Given the description of an element on the screen output the (x, y) to click on. 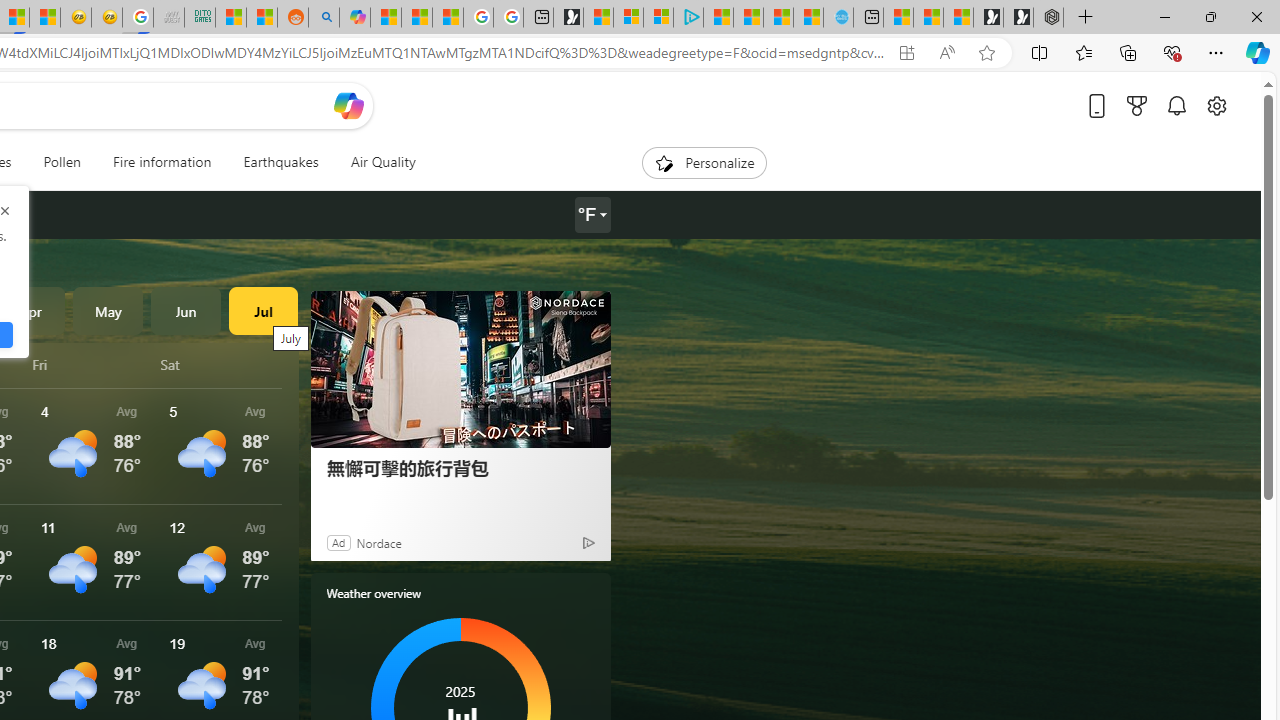
Jul (263, 310)
Nordace (378, 542)
Ad (338, 542)
Home | Sky Blue Bikes - Sky Blue Bikes (838, 17)
Microsoft account | Privacy (658, 17)
May (107, 310)
Personalize (703, 162)
Jul (263, 310)
Air Quality (382, 162)
